Given the description of an element on the screen output the (x, y) to click on. 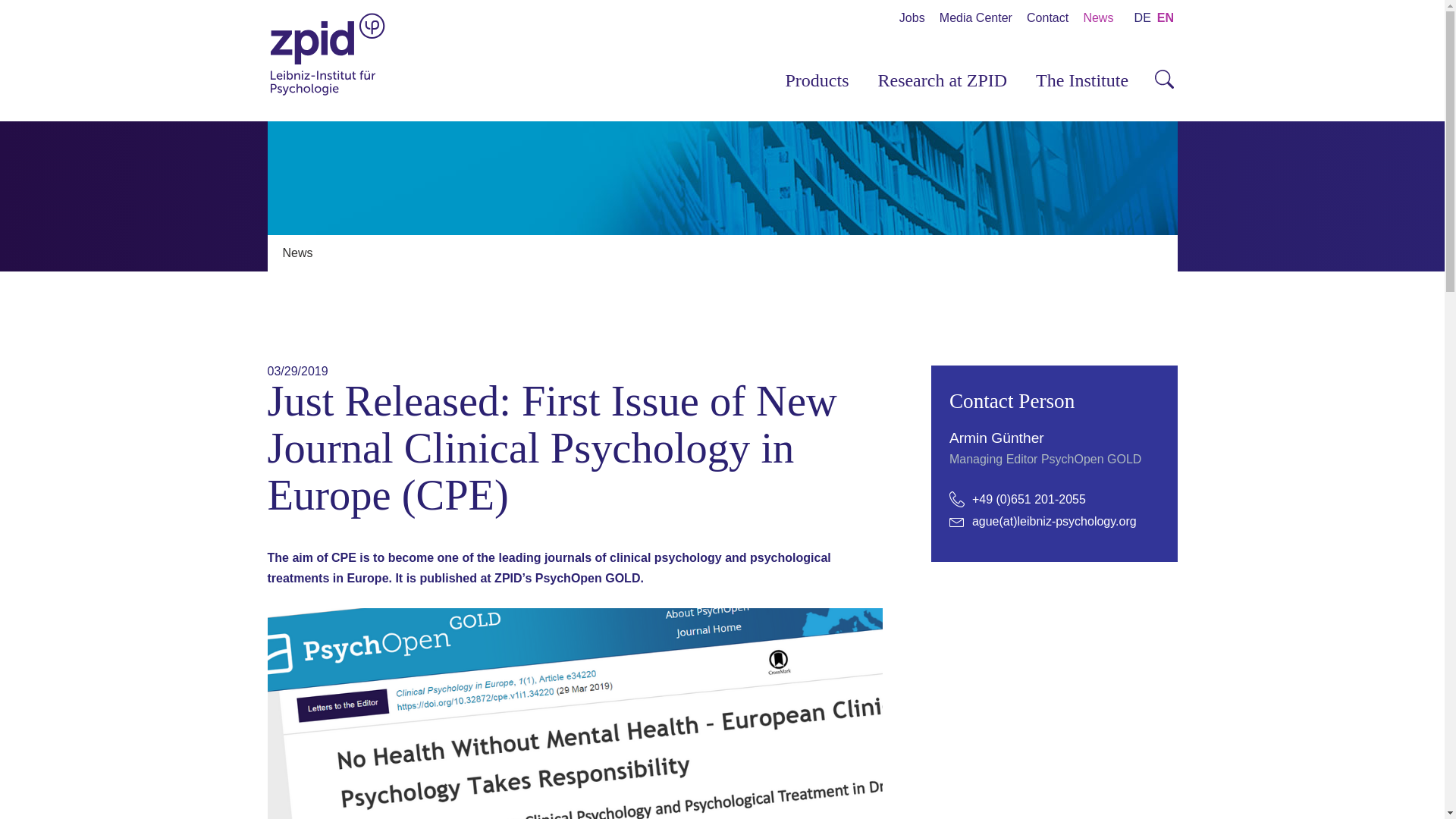
Contact (1047, 17)
Jobs (911, 17)
News (297, 252)
Media Center (975, 17)
News (1098, 17)
Research at ZPID (942, 79)
DE (1142, 17)
EN (1165, 17)
Products (816, 79)
The Institute (1082, 79)
